Given the description of an element on the screen output the (x, y) to click on. 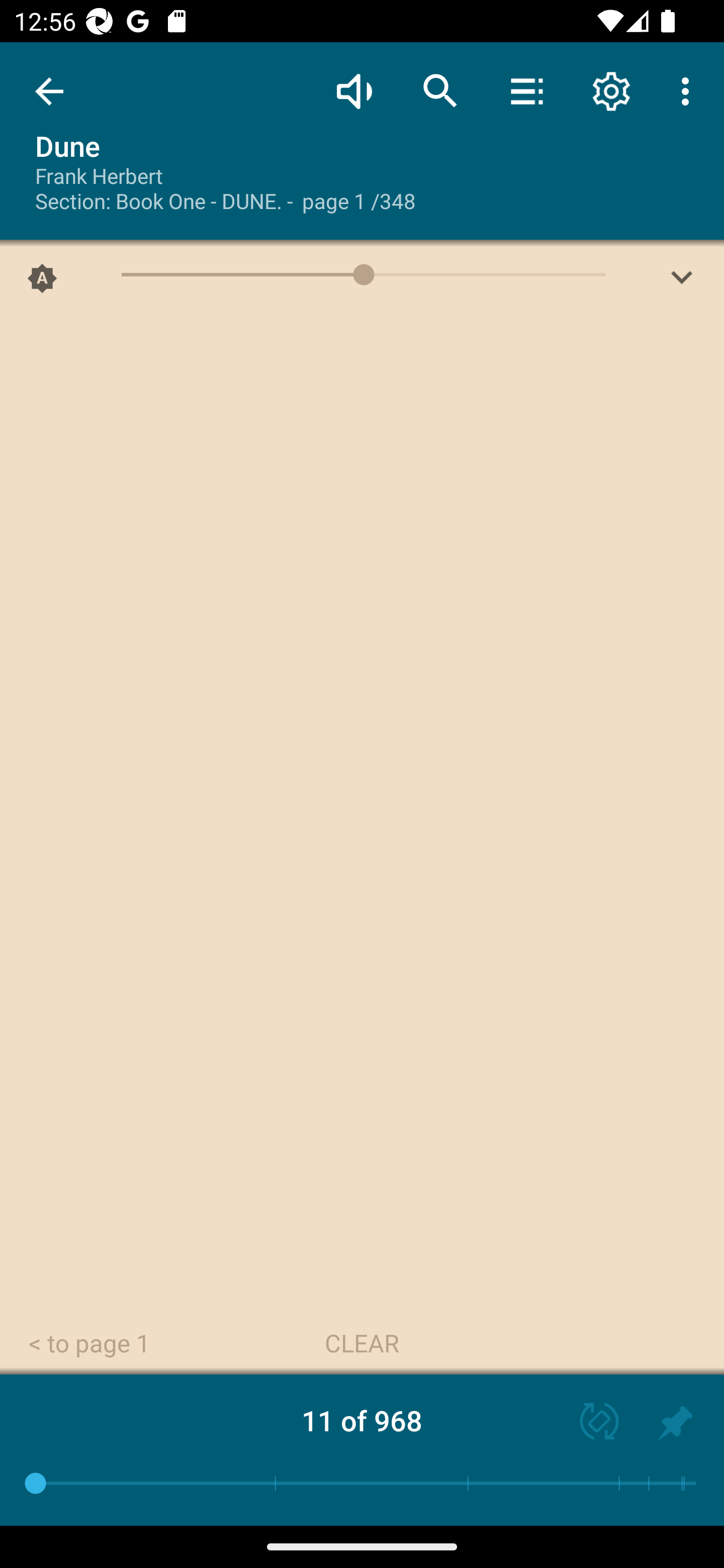
Exit reading (49, 91)
Read aloud (354, 90)
Text search (440, 90)
Contents / Bookmarks / Quotes (526, 90)
Reading settings (611, 90)
More options (688, 90)
Selected screen brightness (42, 281)
Screen brightness settings (681, 281)
< to page 1 (89, 1344)
CLEAR (361, 1344)
11 of 968 (361, 1420)
Screen orientation (590, 1423)
Add to history (674, 1423)
